Given the description of an element on the screen output the (x, y) to click on. 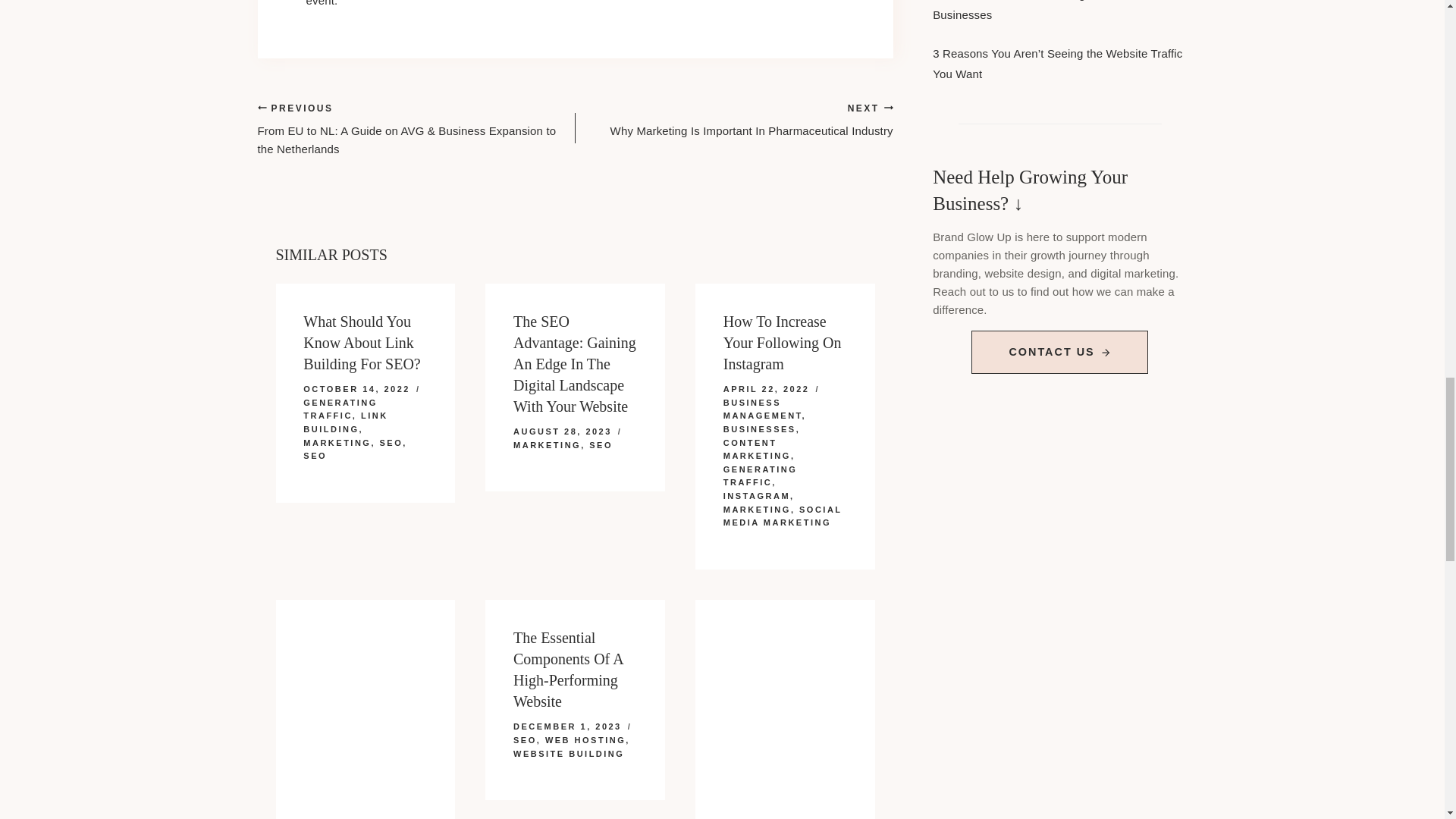
MARKETING (336, 442)
BUSINESSES (759, 429)
SEO (391, 442)
What Should You Know About Link Building For SEO? (361, 342)
GENERATING TRAFFIC (734, 119)
How To Increase Your Following On Instagram (339, 409)
SEO (782, 342)
LINK BUILDING (600, 444)
MARKETING (344, 422)
SEO (546, 444)
BUSINESS MANAGEMENT (314, 455)
